Given the description of an element on the screen output the (x, y) to click on. 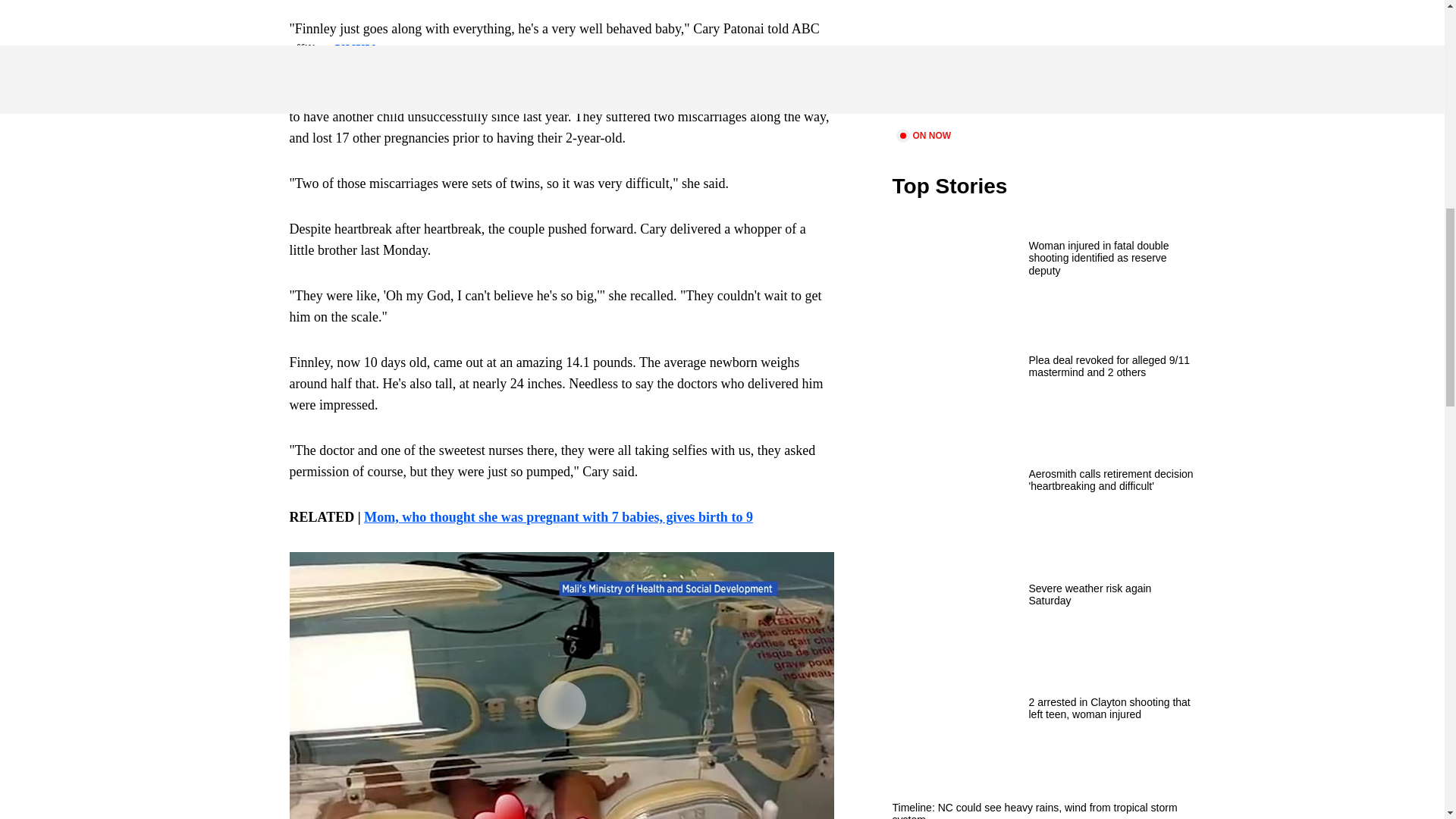
video.title (1043, 62)
